Given the description of an element on the screen output the (x, y) to click on. 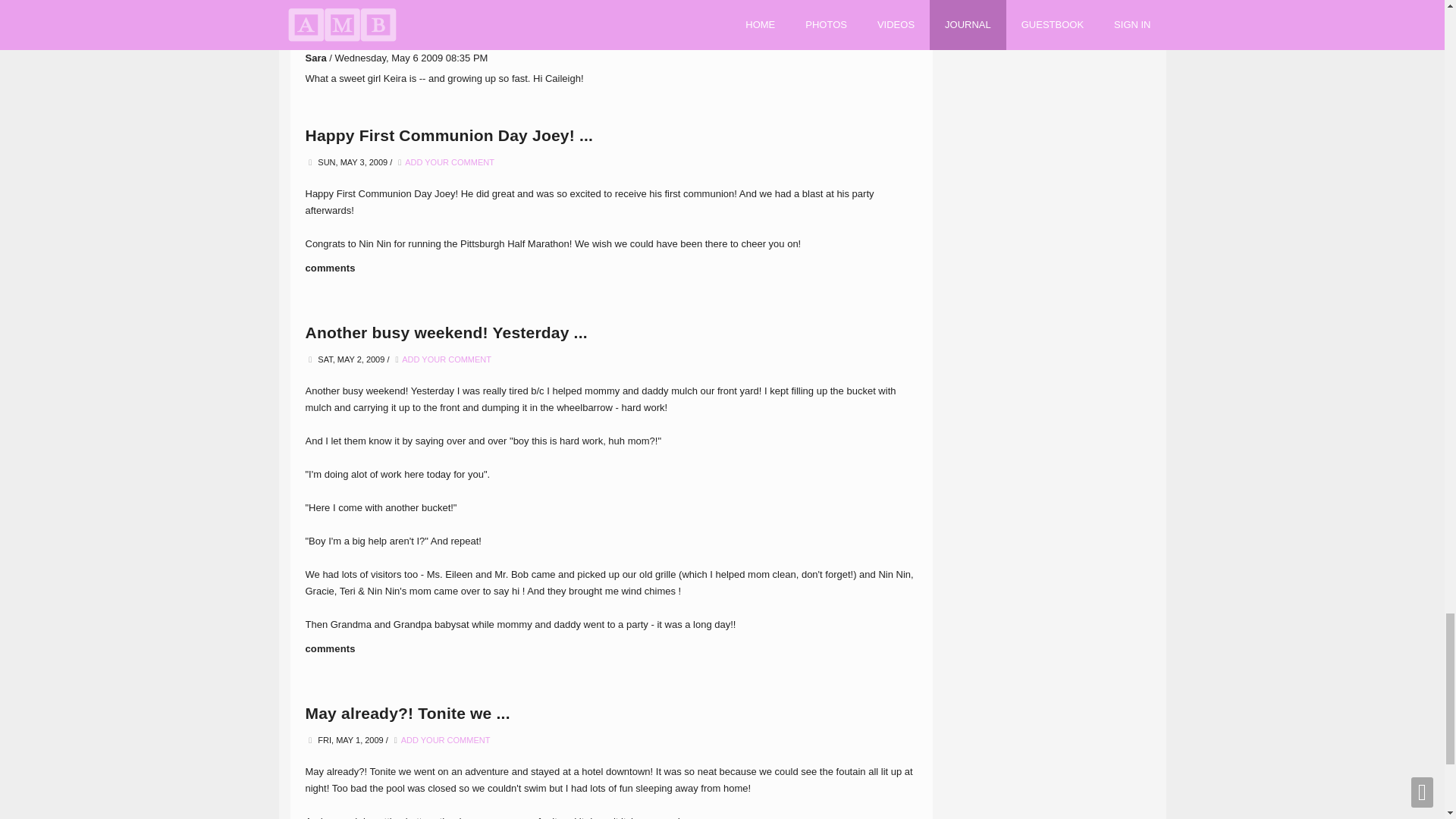
ADD YOUR COMMENT (446, 358)
ADD YOUR COMMENT (449, 162)
ADD YOUR COMMENT (445, 739)
